Given the description of an element on the screen output the (x, y) to click on. 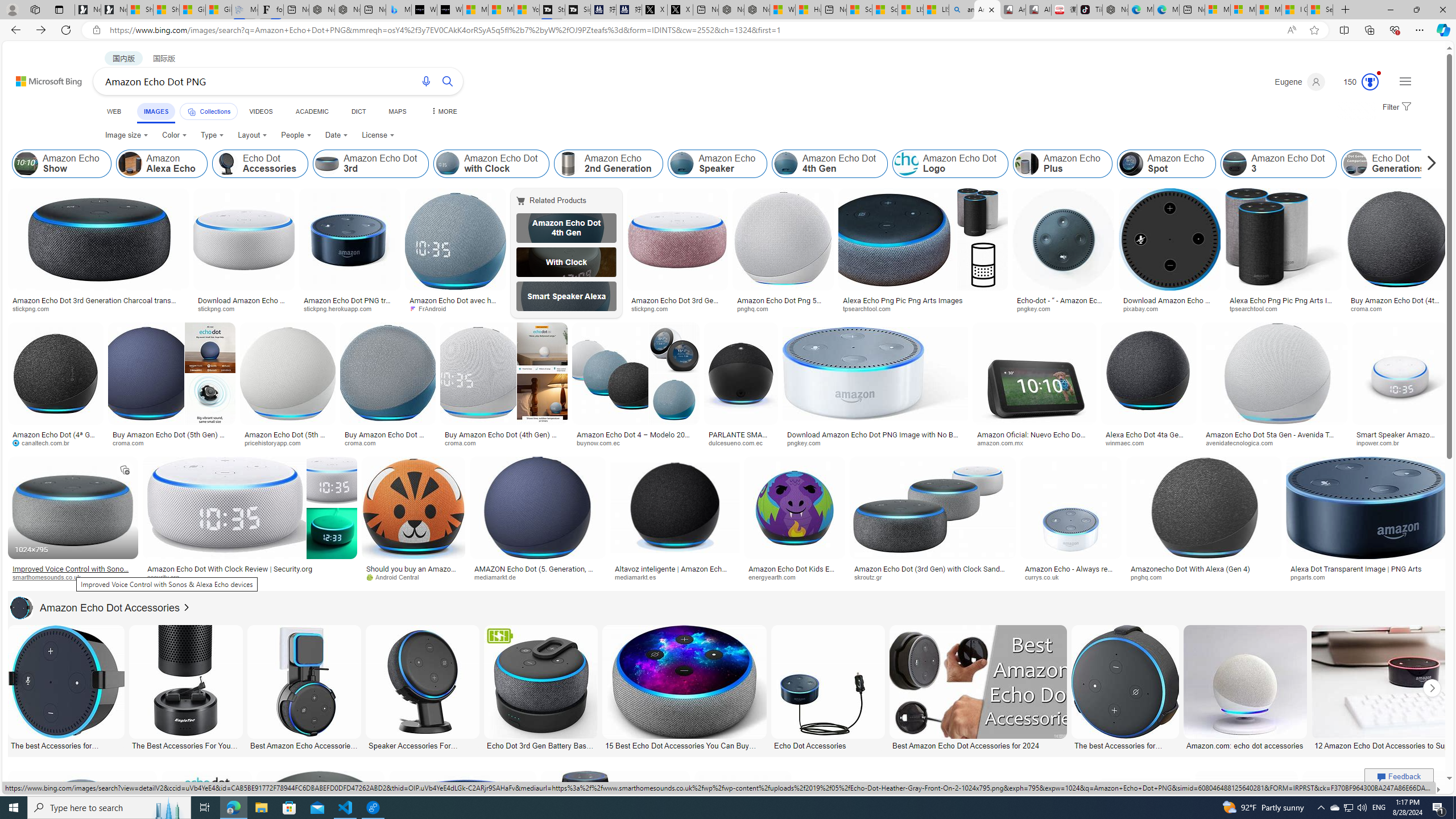
stickpng.com (653, 308)
Amazon Echo Plus (1026, 163)
pricehistoryapp.com (287, 442)
canaltech.com.br (45, 442)
Image size (127, 135)
croma.com (463, 442)
Microsoft Start Sports (475, 9)
pixabay.com (1144, 308)
